Given the description of an element on the screen output the (x, y) to click on. 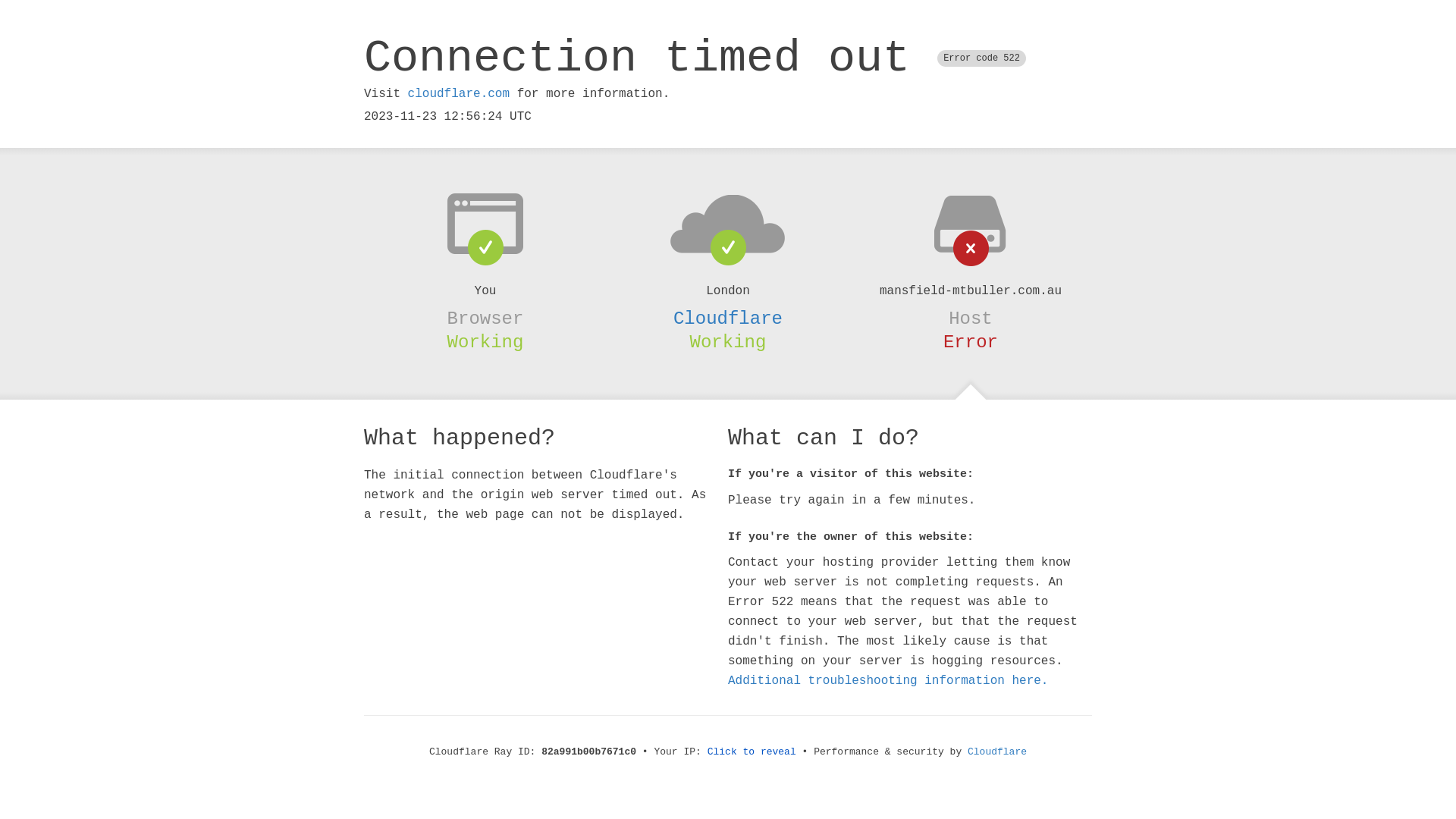
Cloudflare Element type: text (996, 751)
Click to reveal Element type: text (751, 751)
Cloudflare Element type: text (727, 318)
cloudflare.com Element type: text (458, 93)
Additional troubleshooting information here. Element type: text (888, 680)
